Given the description of an element on the screen output the (x, y) to click on. 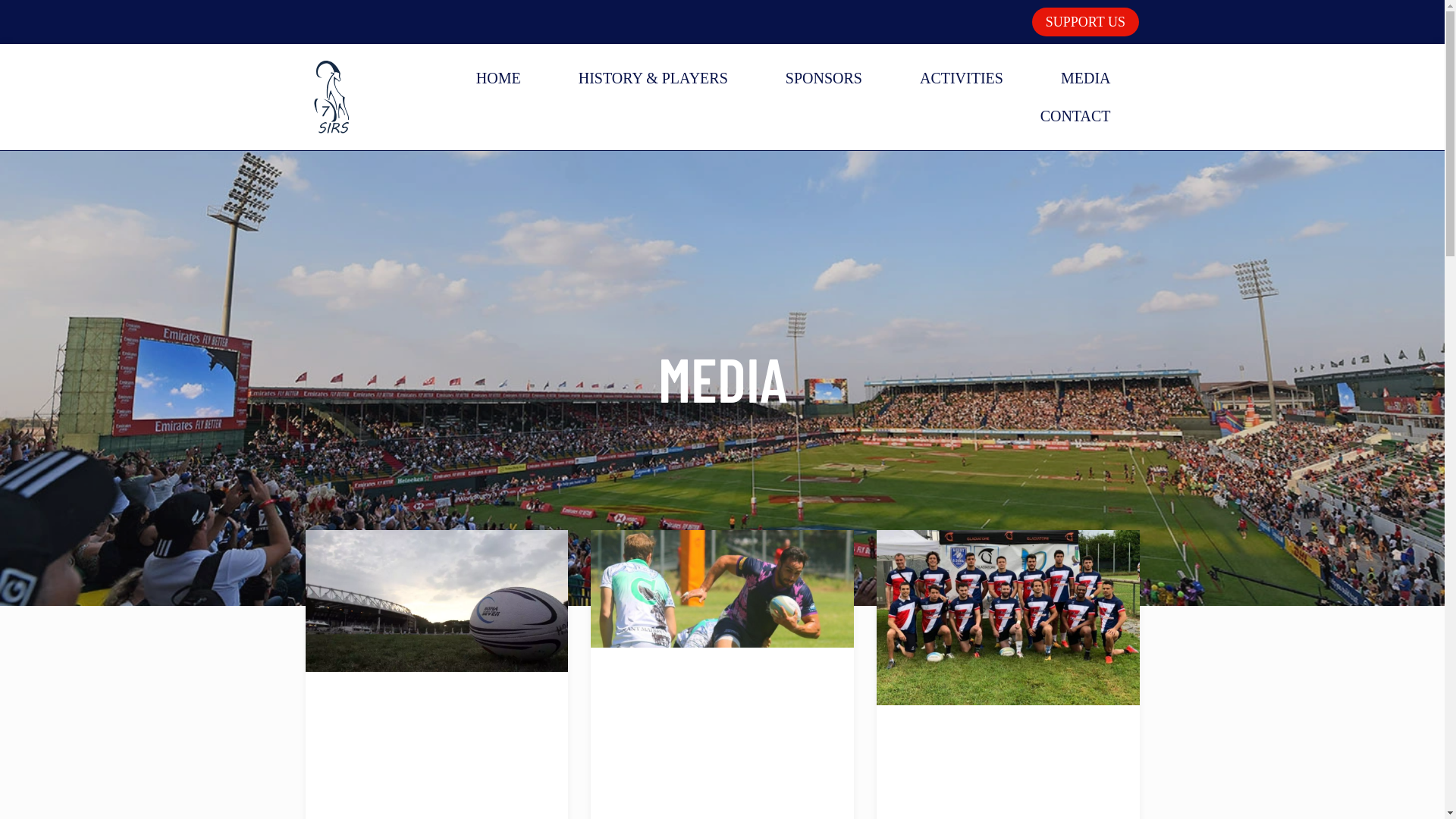
SPONSORS Element type: text (823, 78)
ACTIVITIES Element type: text (961, 78)
MEDIA Element type: text (1085, 78)
HISTORY & PLAYERS Element type: text (652, 78)
SUPPORT US Element type: text (1085, 21)
HOME Element type: text (498, 78)
CONTACT Element type: text (1075, 115)
